Given the description of an element on the screen output the (x, y) to click on. 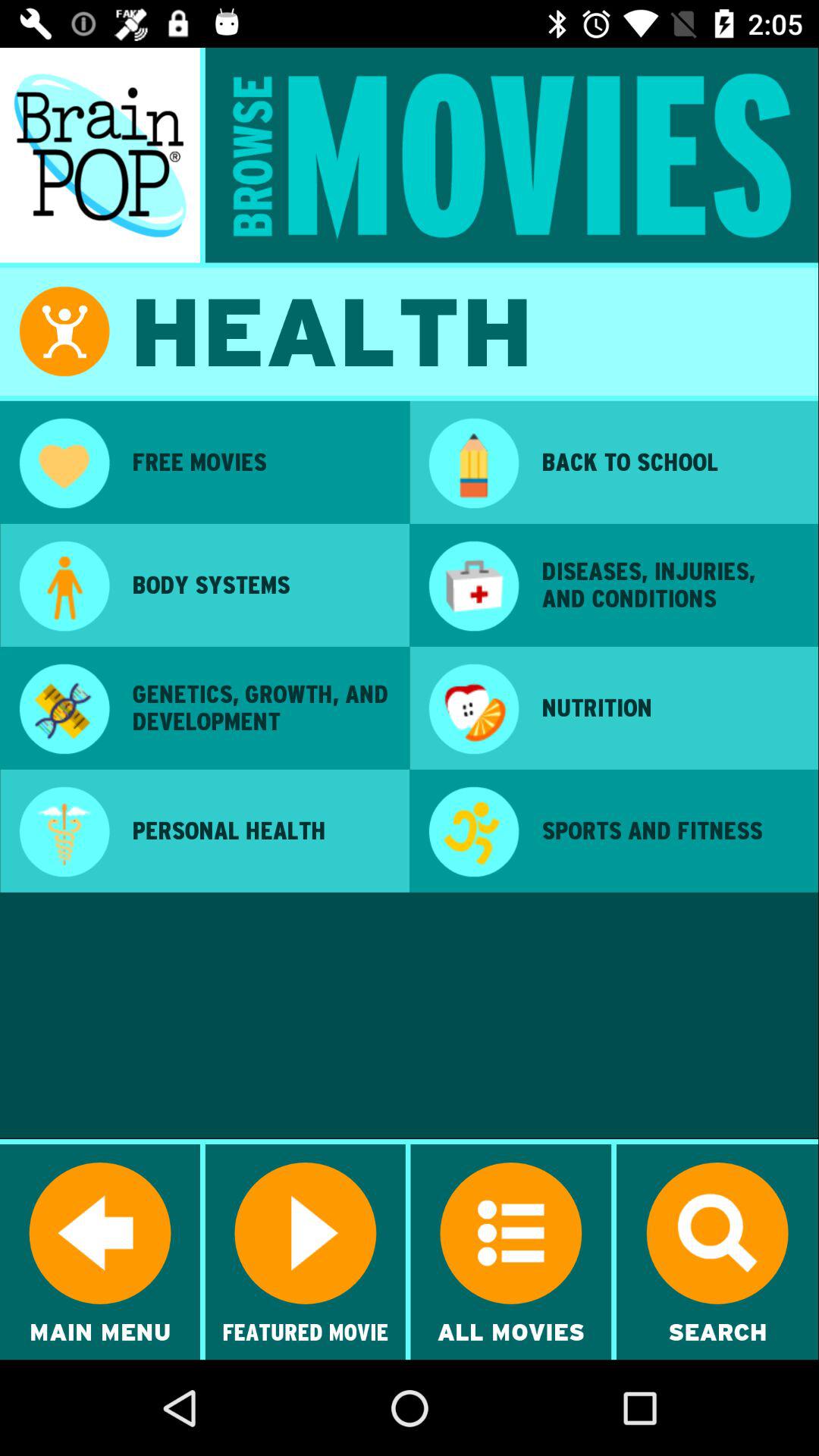
select app next to body systems item (473, 587)
